Given the description of an element on the screen output the (x, y) to click on. 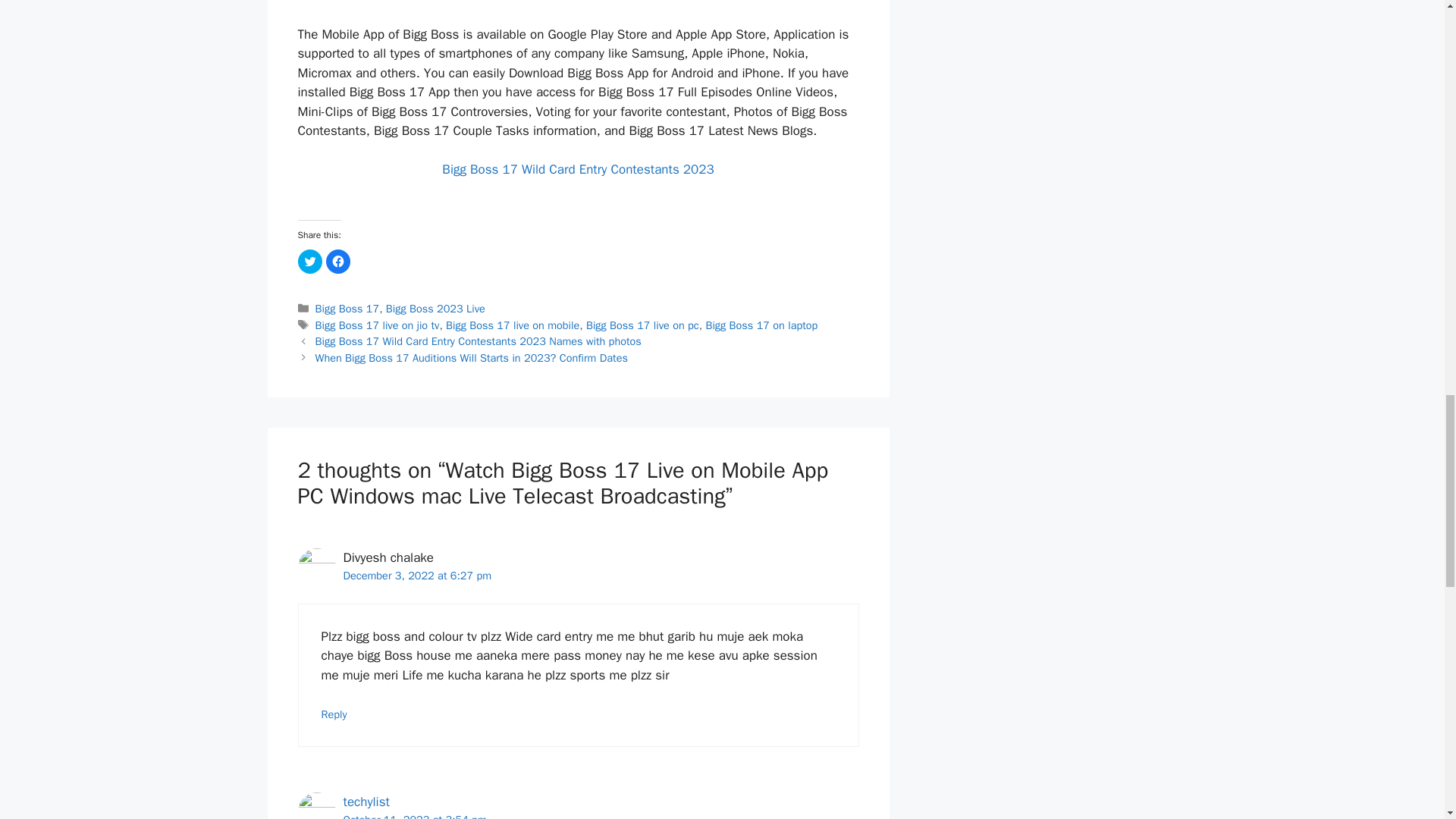
Next (471, 357)
October 11, 2023 at 3:54 pm (414, 816)
Reply (334, 714)
Click to share on Twitter (309, 261)
December 3, 2022 at 6:27 pm (417, 575)
Previous (478, 341)
Bigg Boss 17 Wild Card Entry Contestants 2023 (577, 169)
Bigg Boss 17 live on mobile (512, 325)
Bigg Boss 17 live on pc (642, 325)
